Given the description of an element on the screen output the (x, y) to click on. 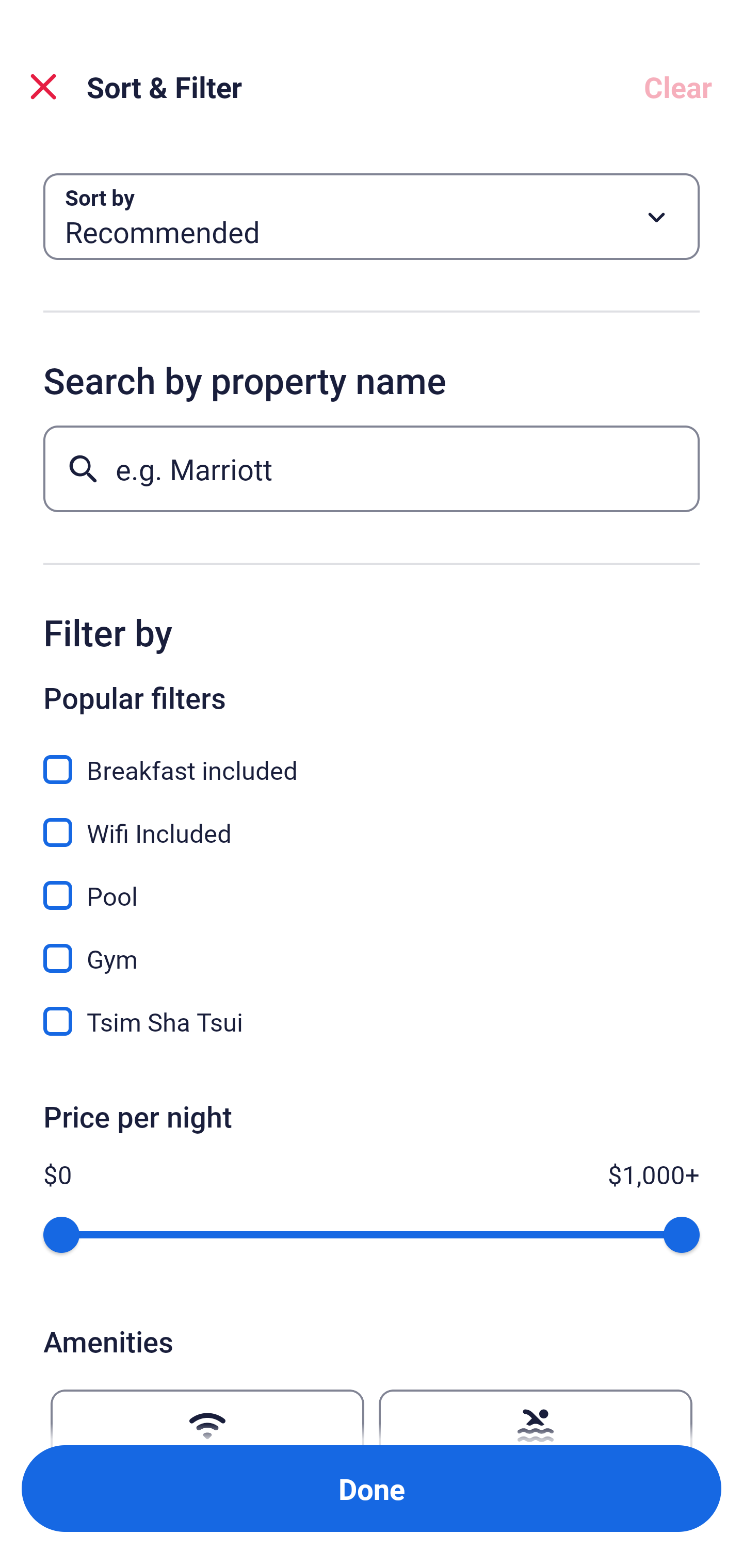
Close Sort and Filter (43, 86)
Clear (677, 86)
Sort by Button Recommended (371, 217)
e.g. Marriott Button (371, 468)
Breakfast included, Breakfast included (371, 757)
Wifi Included, Wifi Included (371, 821)
Pool, Pool (371, 883)
Gym, Gym (371, 946)
Tsim Sha Tsui, Tsim Sha Tsui (371, 1021)
Apply and close Sort and Filter Done (371, 1488)
